Given the description of an element on the screen output the (x, y) to click on. 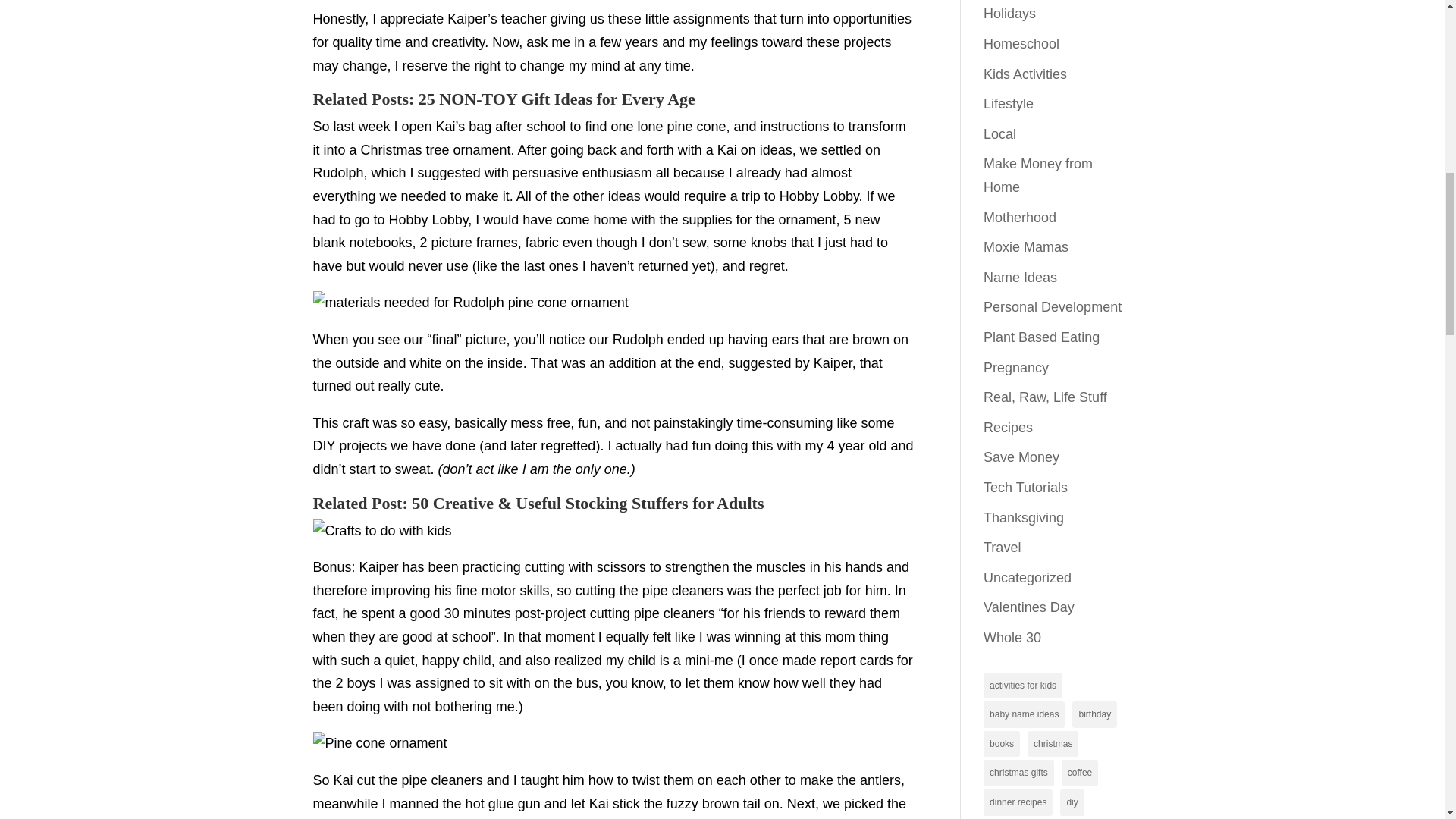
25 NON-TOY Gift Ideas for Every Age (557, 98)
